Given the description of an element on the screen output the (x, y) to click on. 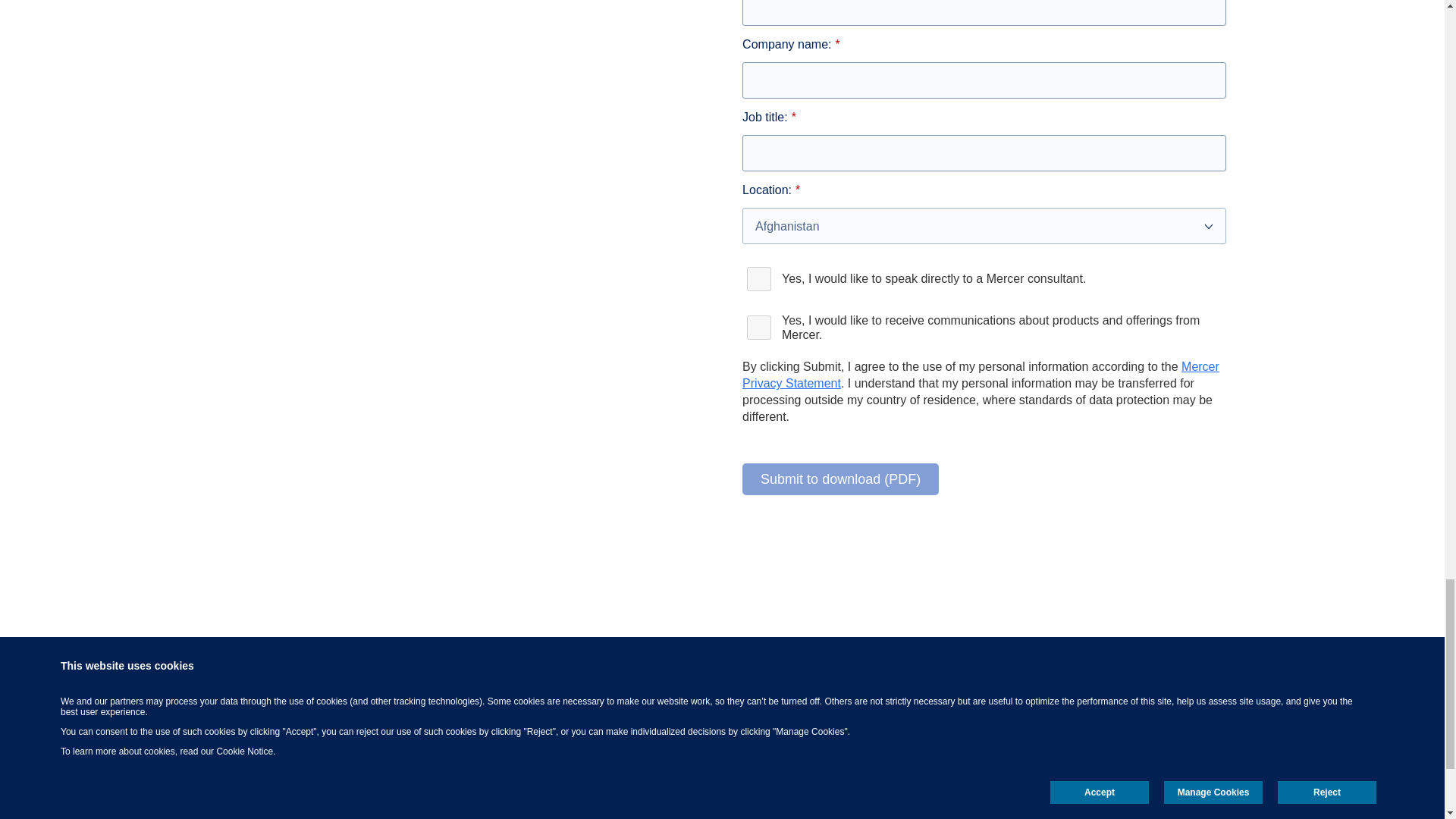
Please select your work location from the dropdown list. (983, 226)
OliverWyman (1185, 729)
yes (759, 327)
GuyCarpenter (1020, 729)
Marsh (939, 729)
Mercer Privacy Statement (981, 374)
Please enter your job title here. (983, 153)
Mercer (1104, 729)
yes (759, 278)
